Given the description of an element on the screen output the (x, y) to click on. 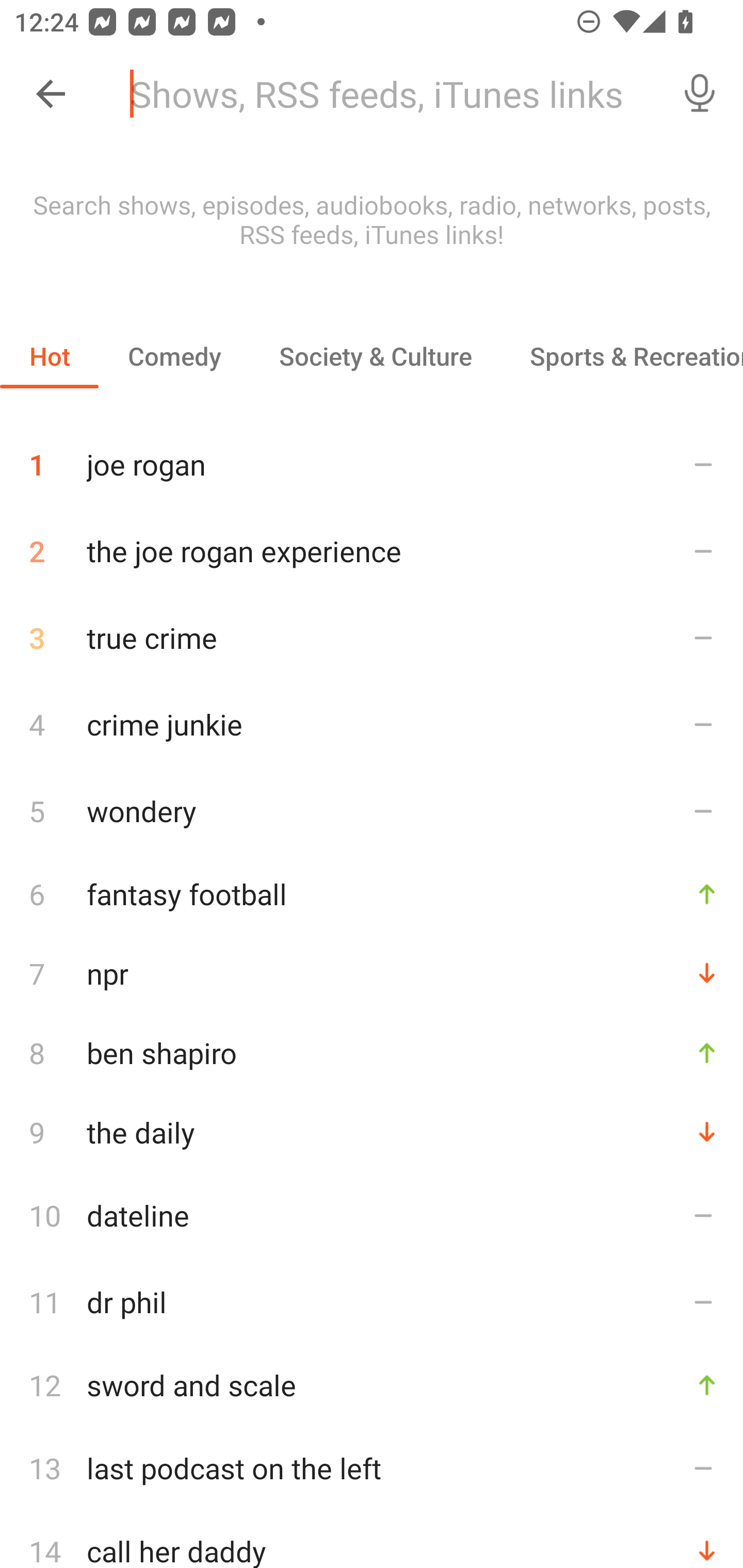
Collapse (50, 93)
Voice Search (699, 93)
Shows, RSS feeds, iTunes links (385, 94)
Hot (49, 355)
Comedy (173, 355)
Society & Culture (374, 355)
Sports & Recreation (621, 355)
1 joe rogan (371, 457)
2 the joe rogan experience (371, 551)
3 true crime (371, 637)
4 crime junkie (371, 723)
5 wondery (371, 810)
6 fantasy football (371, 893)
7 npr (371, 972)
8 ben shapiro (371, 1052)
9 the daily (371, 1131)
10 dateline (371, 1215)
11 dr phil (371, 1302)
12 sword and scale (371, 1385)
13 last podcast on the left (371, 1468)
14 call her daddy (371, 1539)
